Given the description of an element on the screen output the (x, y) to click on. 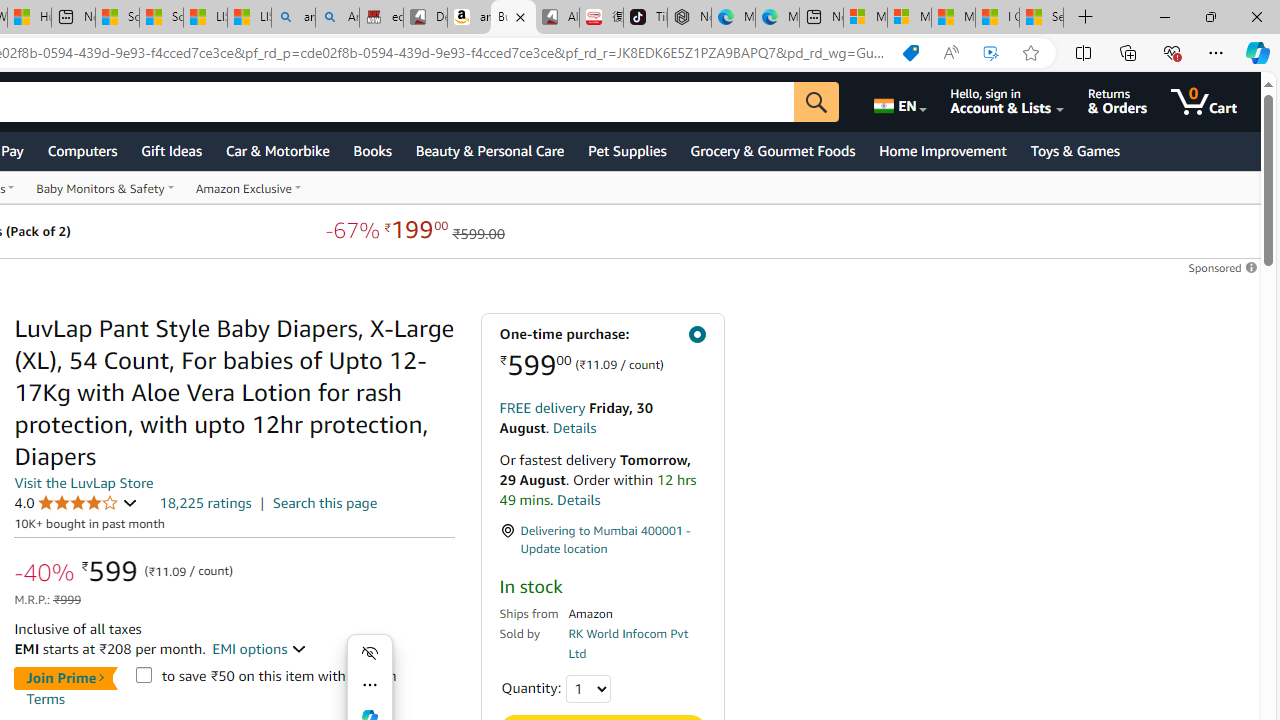
amazon.in/dp/B0CX59H5W7/?tag=gsmcom05-21 (469, 17)
Microsoft account | Privacy (909, 17)
You have the best price! (910, 53)
Enhance video (991, 53)
All Cubot phones (557, 17)
I Gained 20 Pounds of Muscle in 30 Days! | Watch (996, 17)
